Given the description of an element on the screen output the (x, y) to click on. 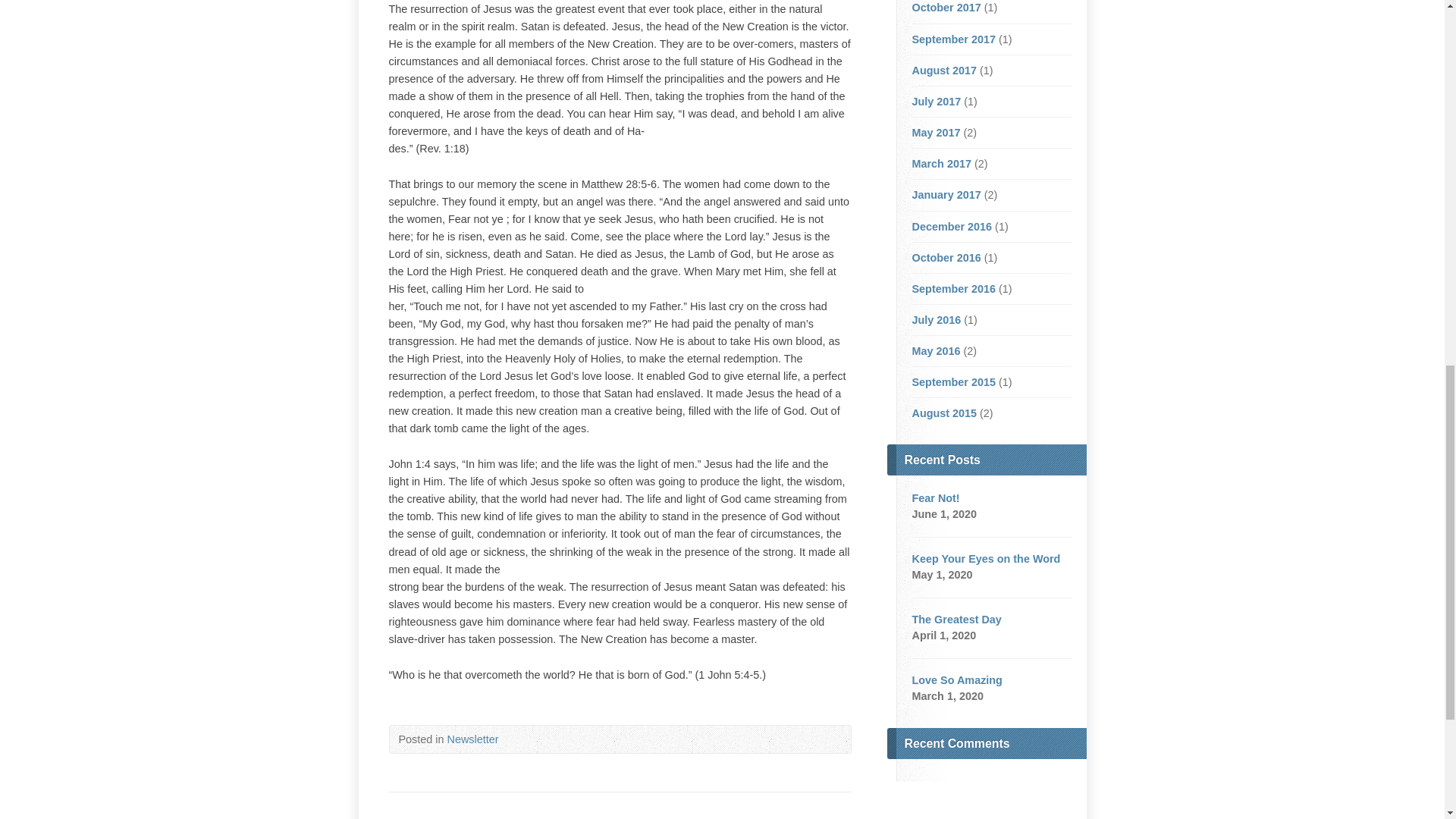
Keep Your Eyes on the Word (985, 558)
The Greatest Day (956, 619)
Newsletter (472, 739)
Love So Amazing (956, 680)
August 2017 (943, 70)
September 2017 (952, 39)
October 2017 (945, 7)
July 2017 (935, 101)
Fear Not! (935, 498)
